Given the description of an element on the screen output the (x, y) to click on. 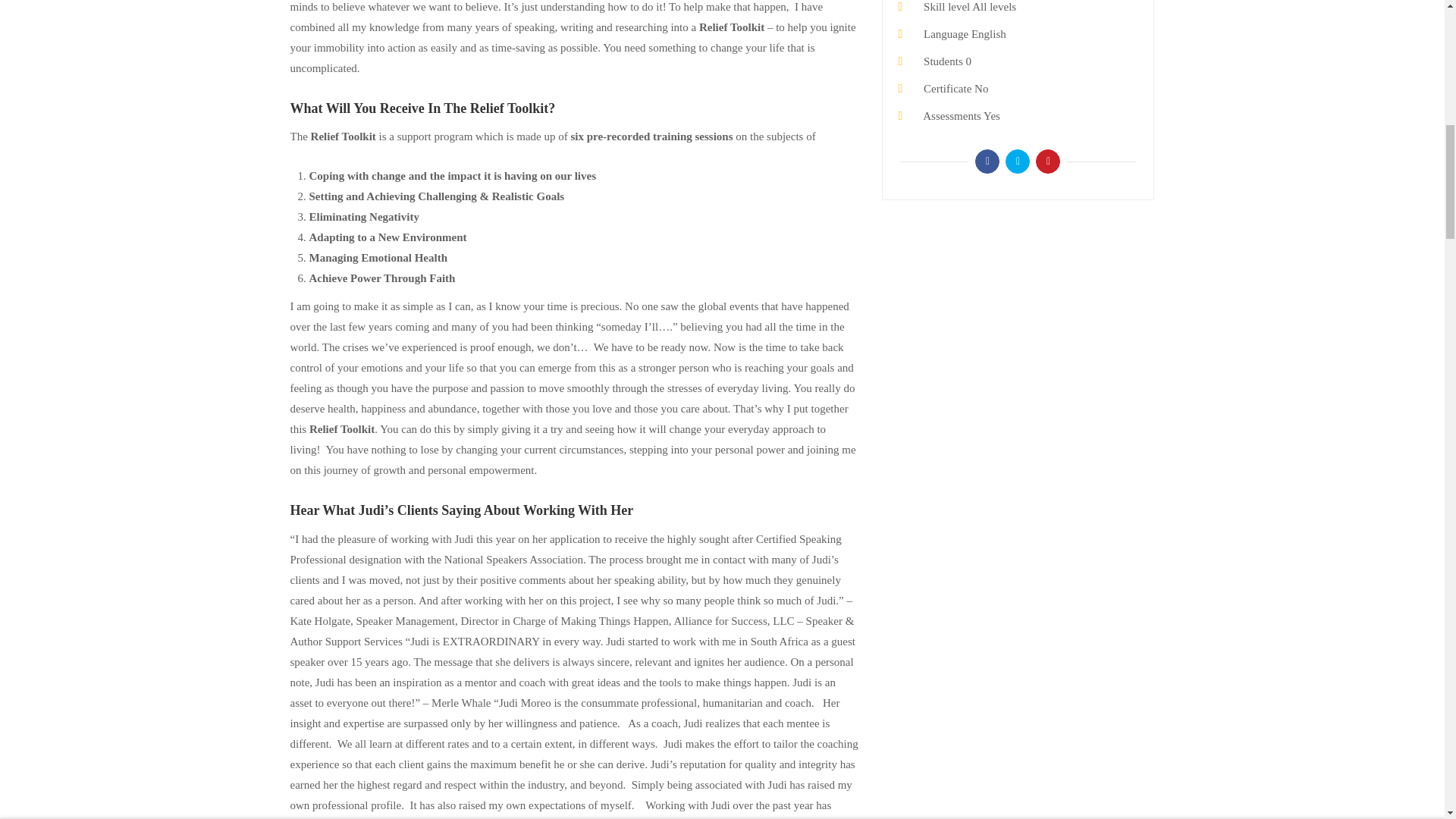
Overview (309, 22)
ADD TO CART (1101, 22)
Instructor (446, 22)
Curriculum (377, 22)
Students List (516, 22)
